Given the description of an element on the screen output the (x, y) to click on. 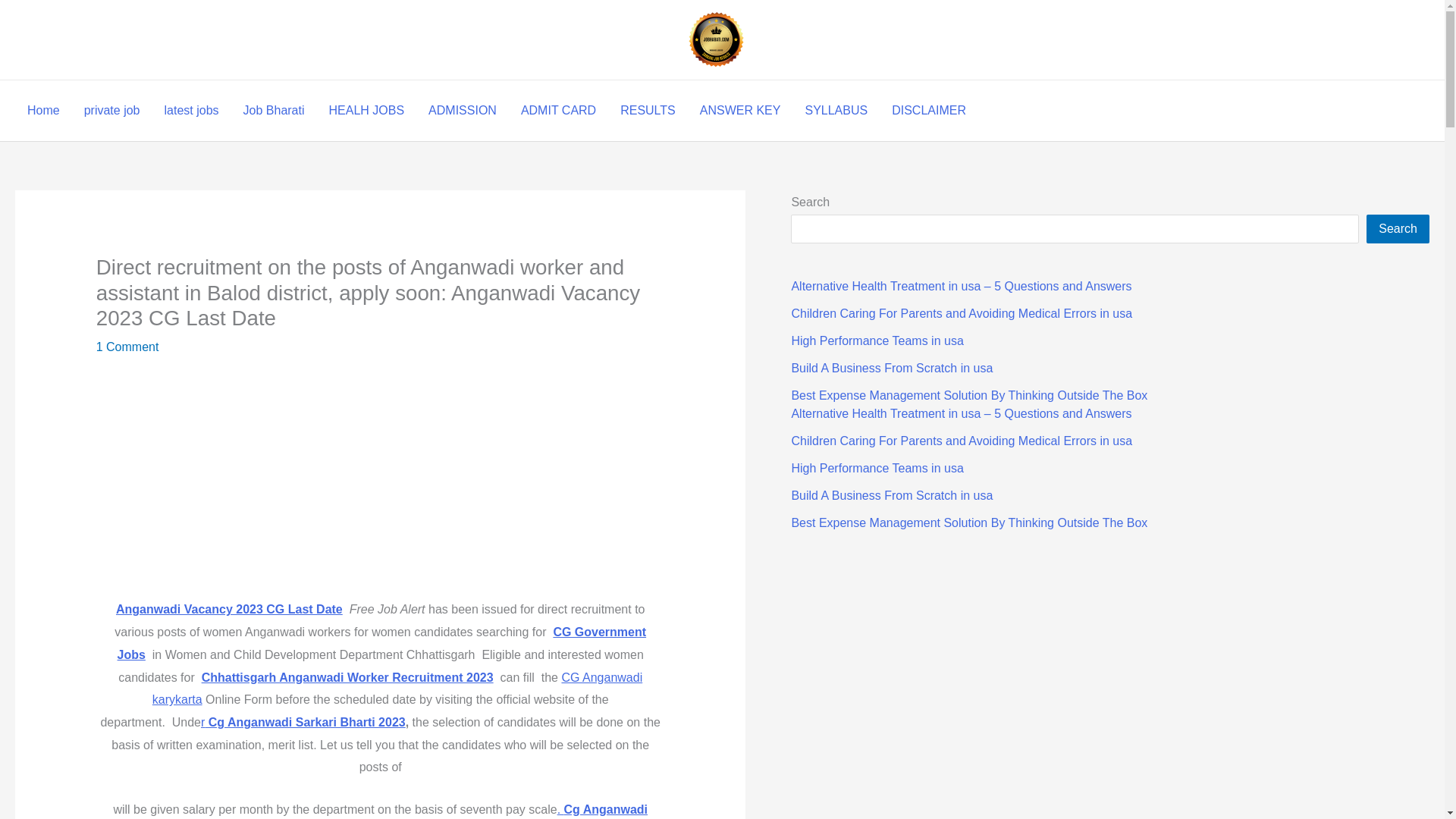
ANSWER KEY (740, 110)
HEALH JOBS (366, 110)
Home (42, 110)
ADMIT CARD (558, 110)
ADMISSION (462, 110)
private job (111, 110)
SYLLABUS (835, 110)
DISCLAIMER (928, 110)
latest jobs (191, 110)
RESULTS (647, 110)
